Given the description of an element on the screen output the (x, y) to click on. 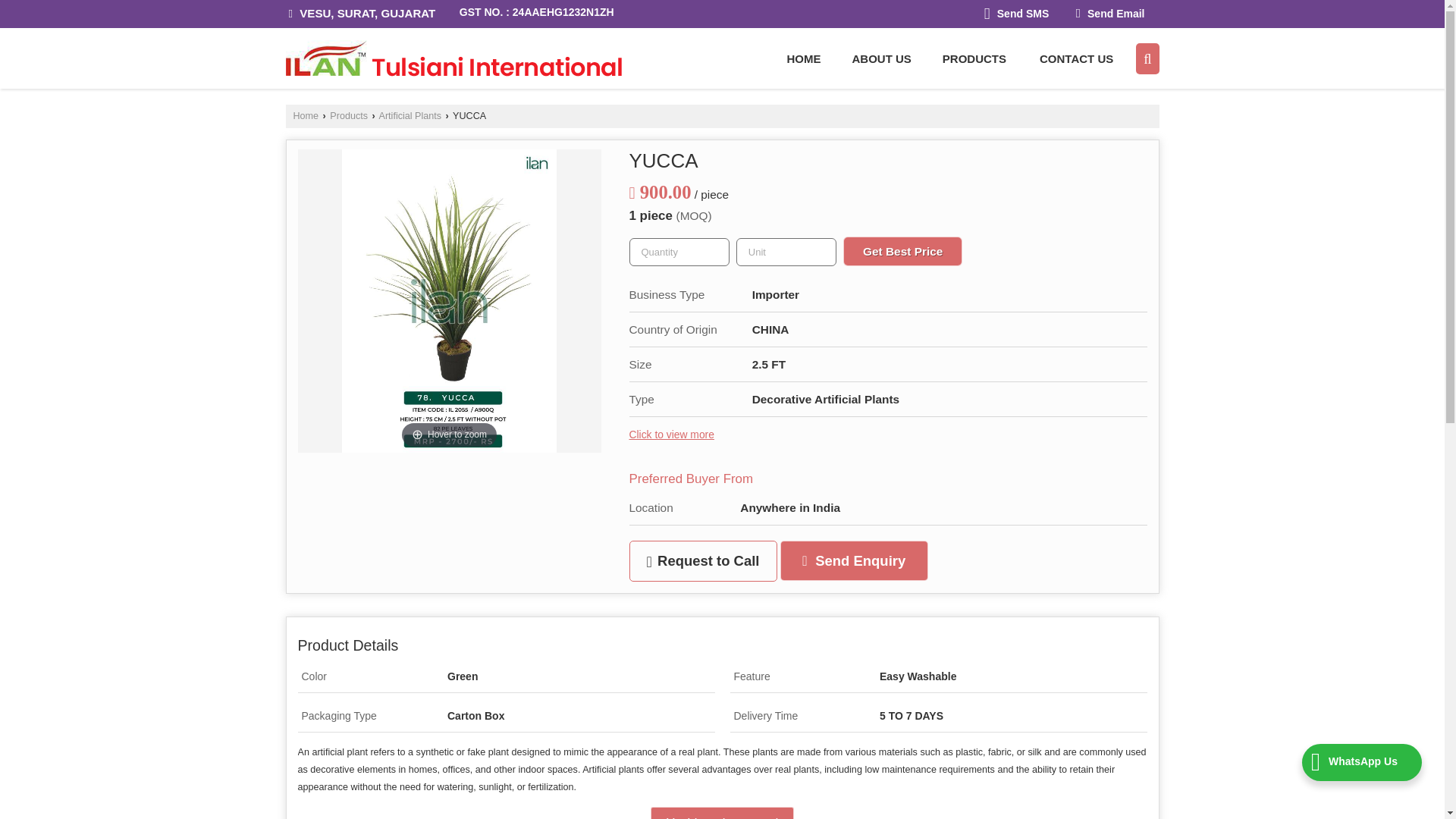
ABOUT US (880, 57)
Send Enquiry (854, 560)
Send SMS (1015, 14)
PRODUCTS (975, 57)
CONTACT US (1076, 57)
Send Email (1110, 14)
Products (349, 115)
Home (803, 57)
Products (975, 57)
About Us (880, 57)
Click to view more (671, 434)
Home (305, 115)
Products (349, 115)
Request to Call (702, 560)
HOME (803, 57)
